Given the description of an element on the screen output the (x, y) to click on. 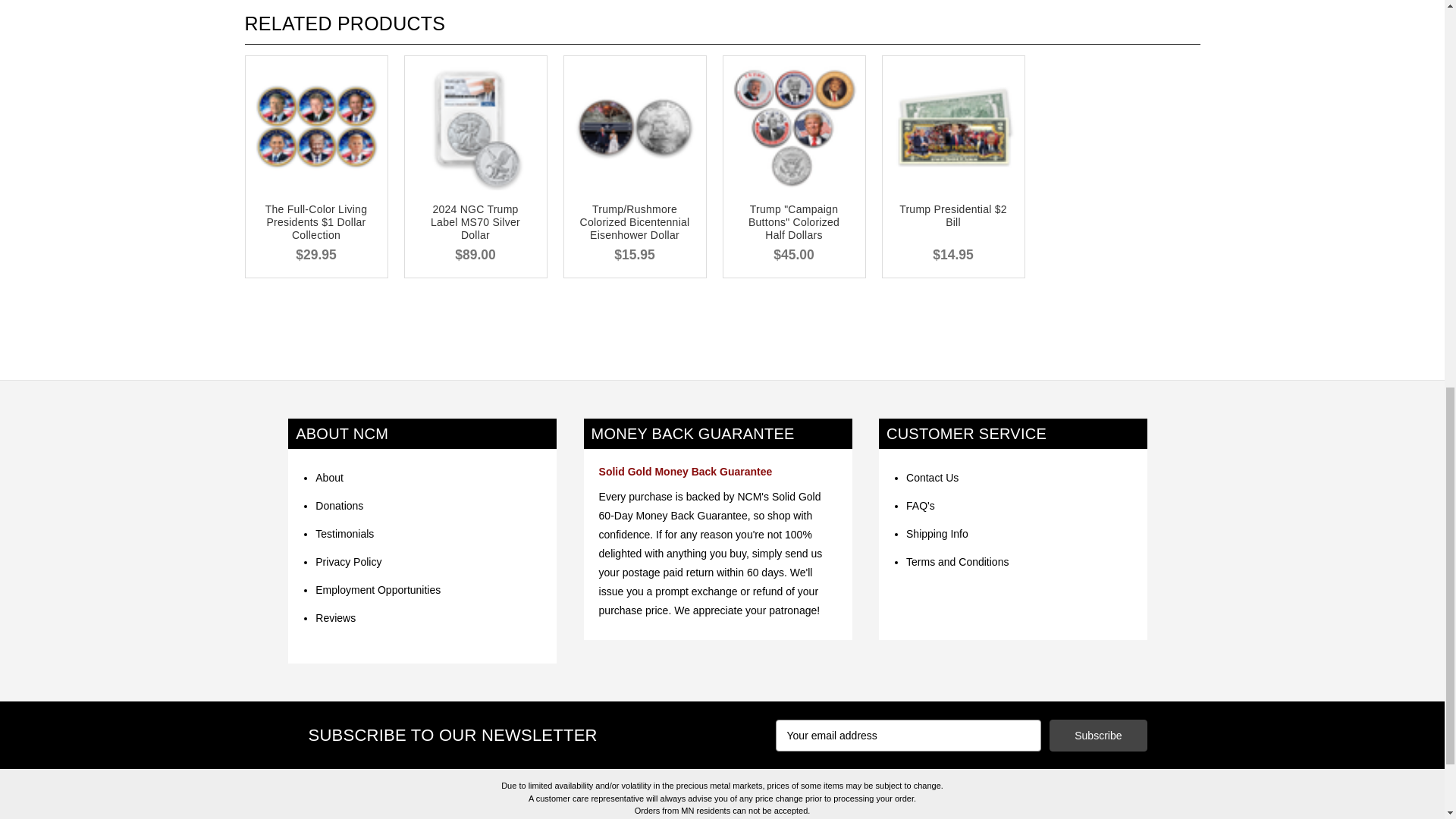
A picture of the 2024 NGC Trump Label MS70 Silver Dollar (475, 126)
Subscribe (1098, 735)
